Given the description of an element on the screen output the (x, y) to click on. 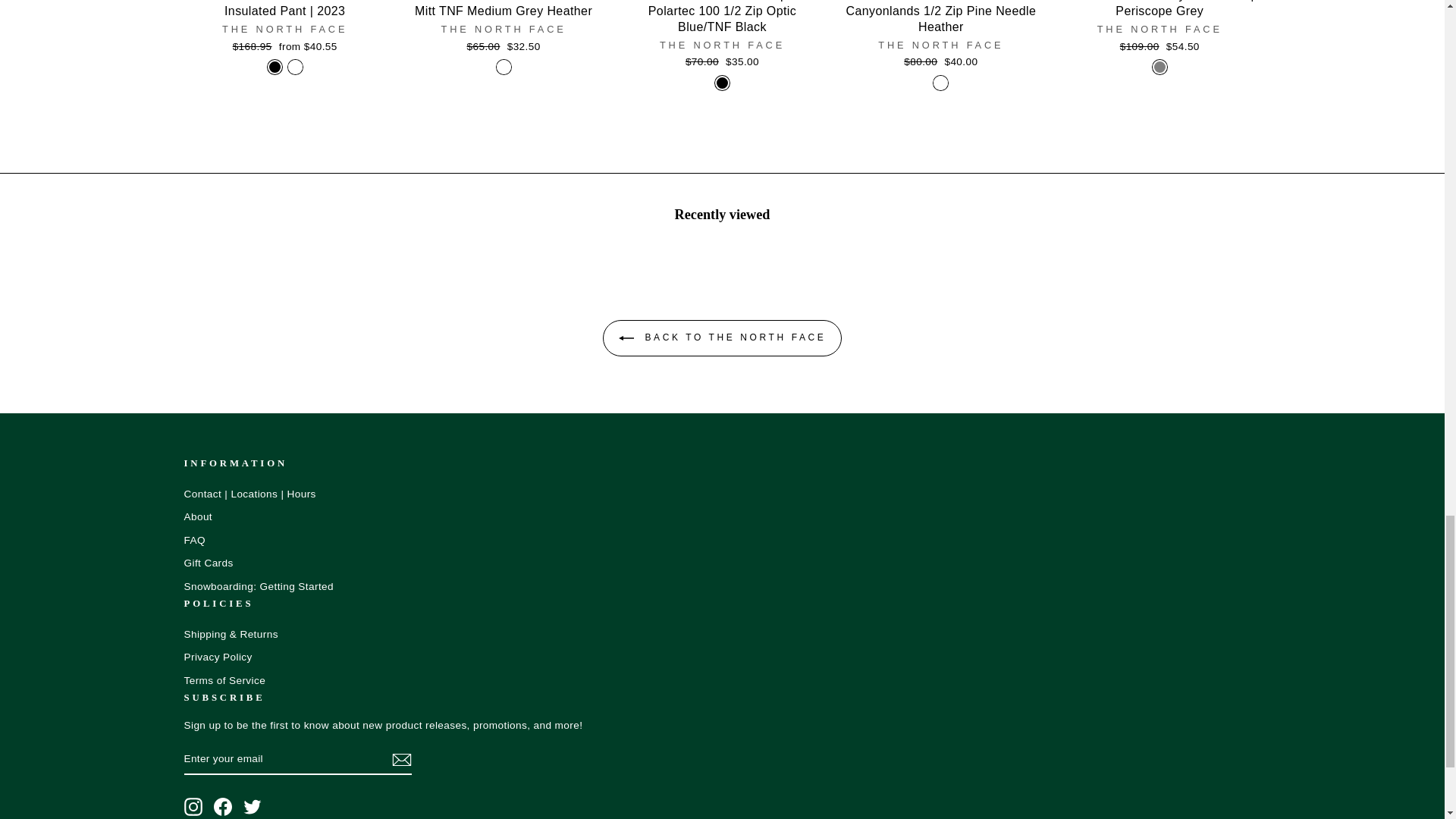
Eastern Boarder on Facebook (222, 806)
Eastern Boarder on Twitter (251, 806)
Eastern Boarder on Instagram (192, 806)
